Given the description of an element on the screen output the (x, y) to click on. 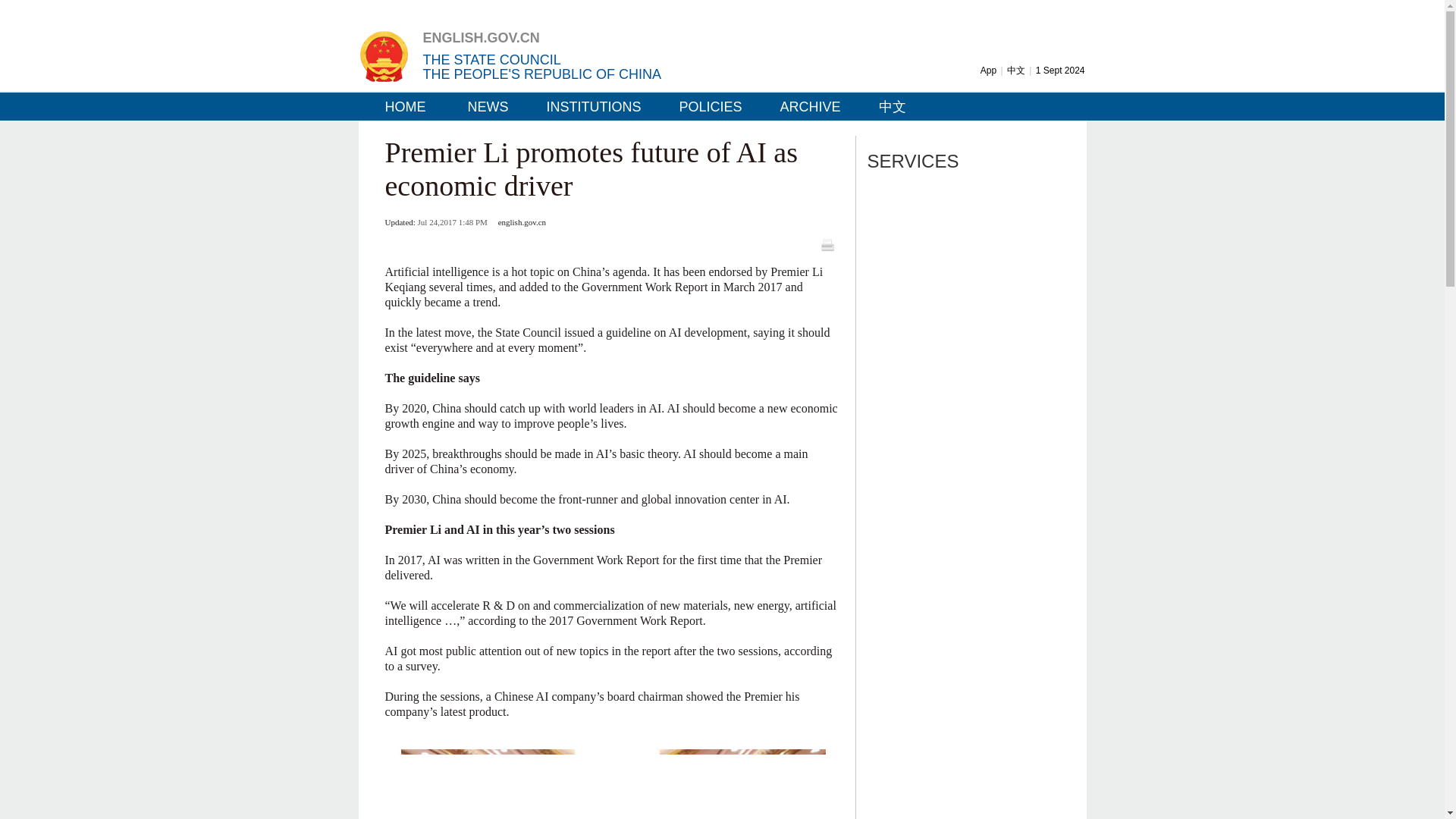
POLICIES (704, 106)
HOME (398, 106)
THE PEOPLE'S REPUBLIC OF CHINA (542, 73)
ARCHIVE (804, 106)
SERVICES (913, 160)
ENGLISH.GOV.CN (481, 37)
INSTITUTIONS (588, 106)
NEWS (482, 106)
THE STATE COUNCIL (491, 59)
App (987, 70)
